Given the description of an element on the screen output the (x, y) to click on. 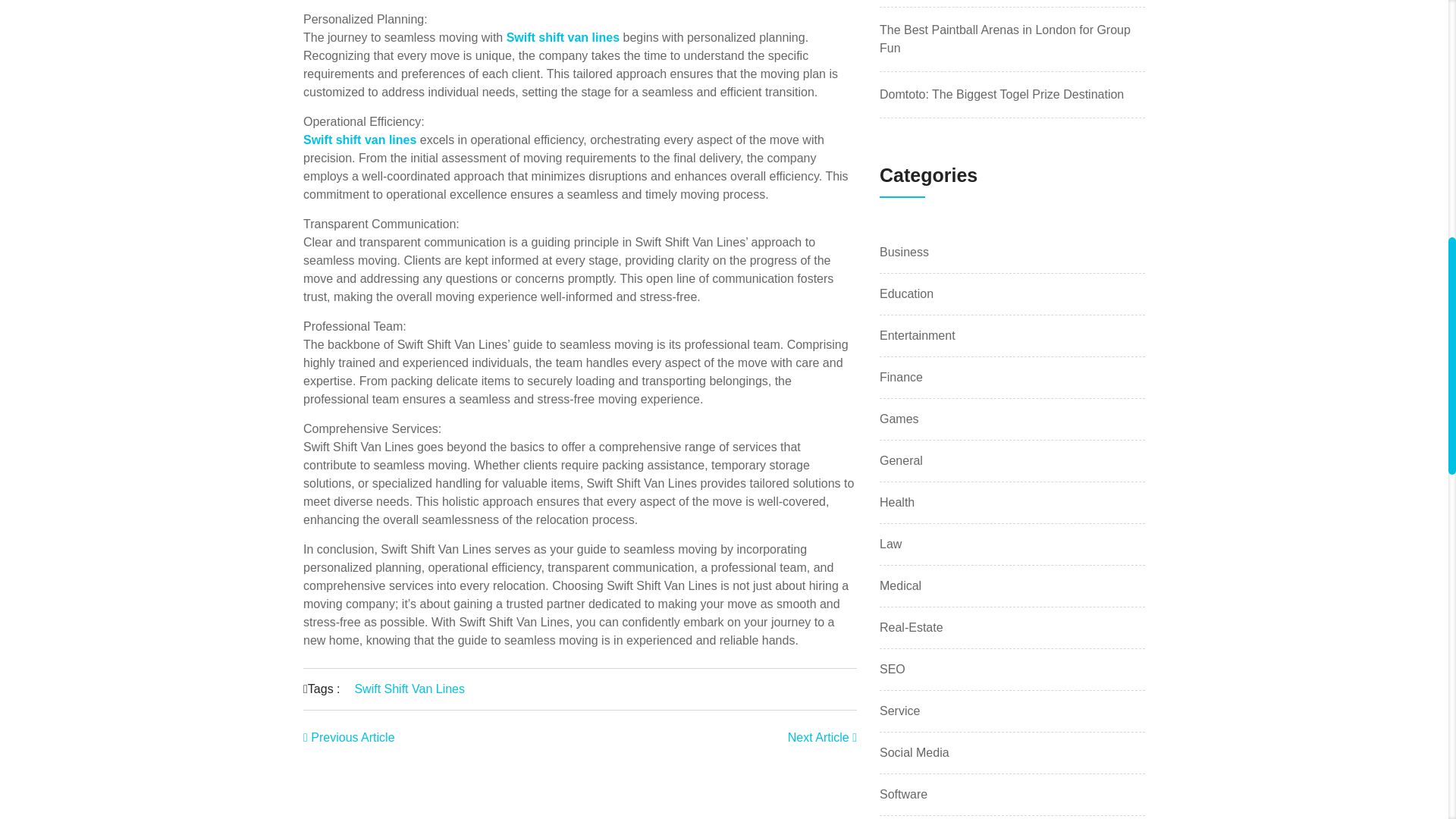
Finance (901, 377)
Service (899, 710)
Software (903, 794)
Real-Estate (911, 628)
General (901, 461)
Swift Shift Van Lines (408, 688)
Education (906, 294)
Social Media (914, 752)
Next Article (822, 737)
Health (896, 502)
